Given the description of an element on the screen output the (x, y) to click on. 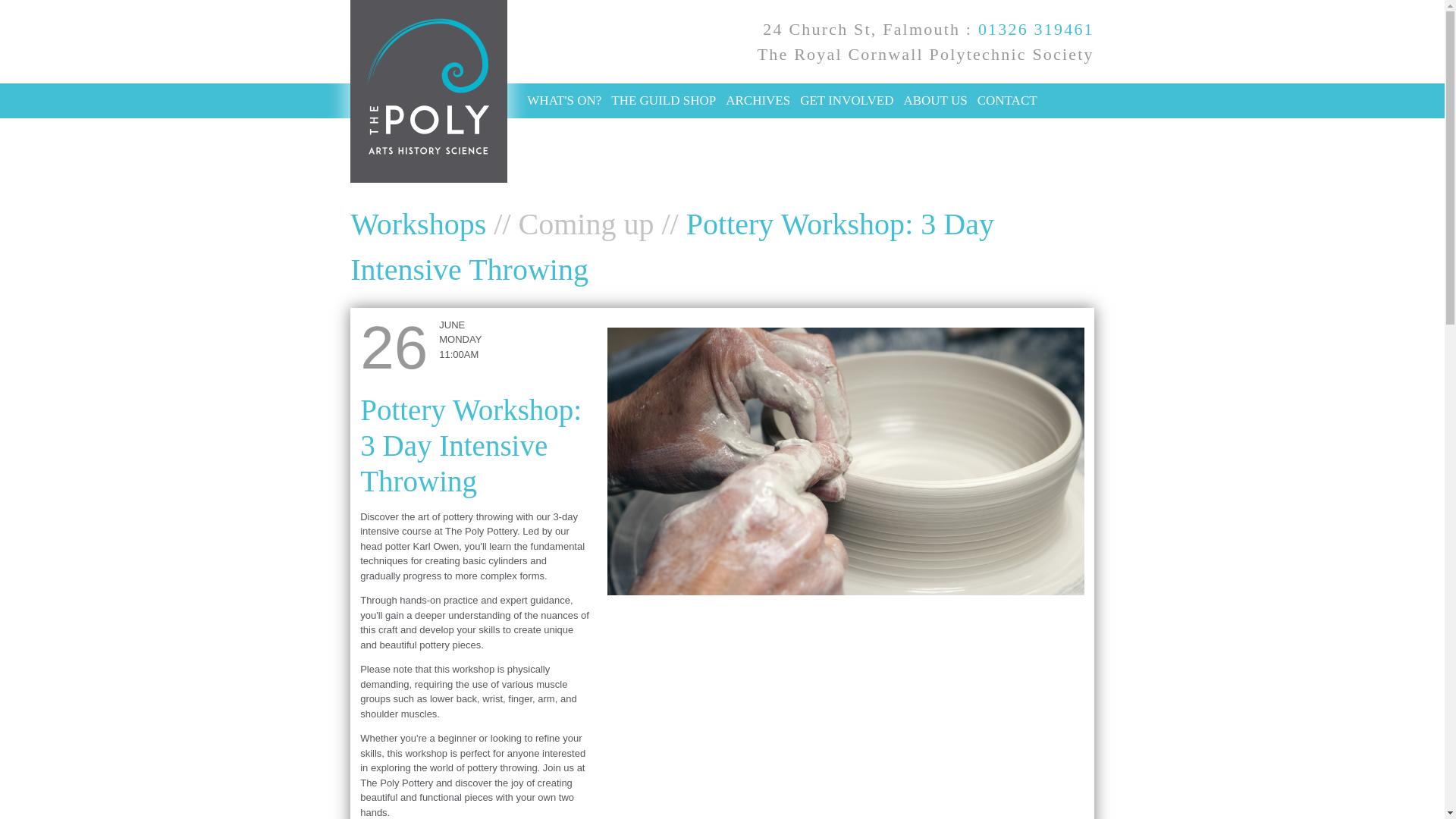
THE GUILD SHOP (663, 100)
ABOUT US (934, 100)
ARCHIVES (757, 100)
WHAT'S ON? (564, 100)
GET INVOLVED (846, 100)
